Given the description of an element on the screen output the (x, y) to click on. 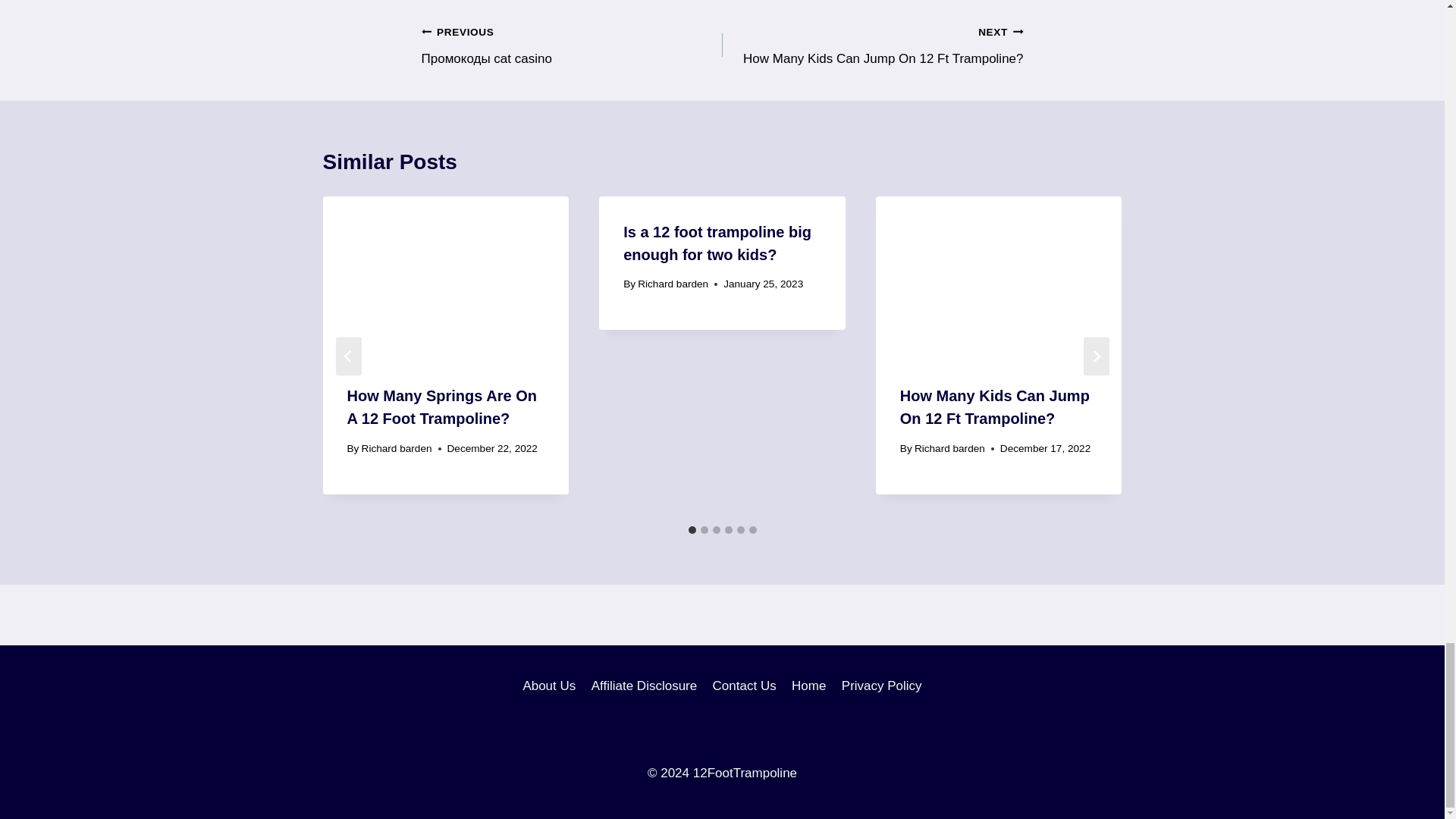
How Many Kids Can Jump On 12 Ft Trampoline? (994, 406)
Richard barden (396, 448)
Richard barden (949, 448)
Is a 12 foot trampoline big enough for two kids? (716, 242)
Richard barden (672, 283)
How Many Springs Are On A 12 Foot Trampoline? (442, 406)
